Given the description of an element on the screen output the (x, y) to click on. 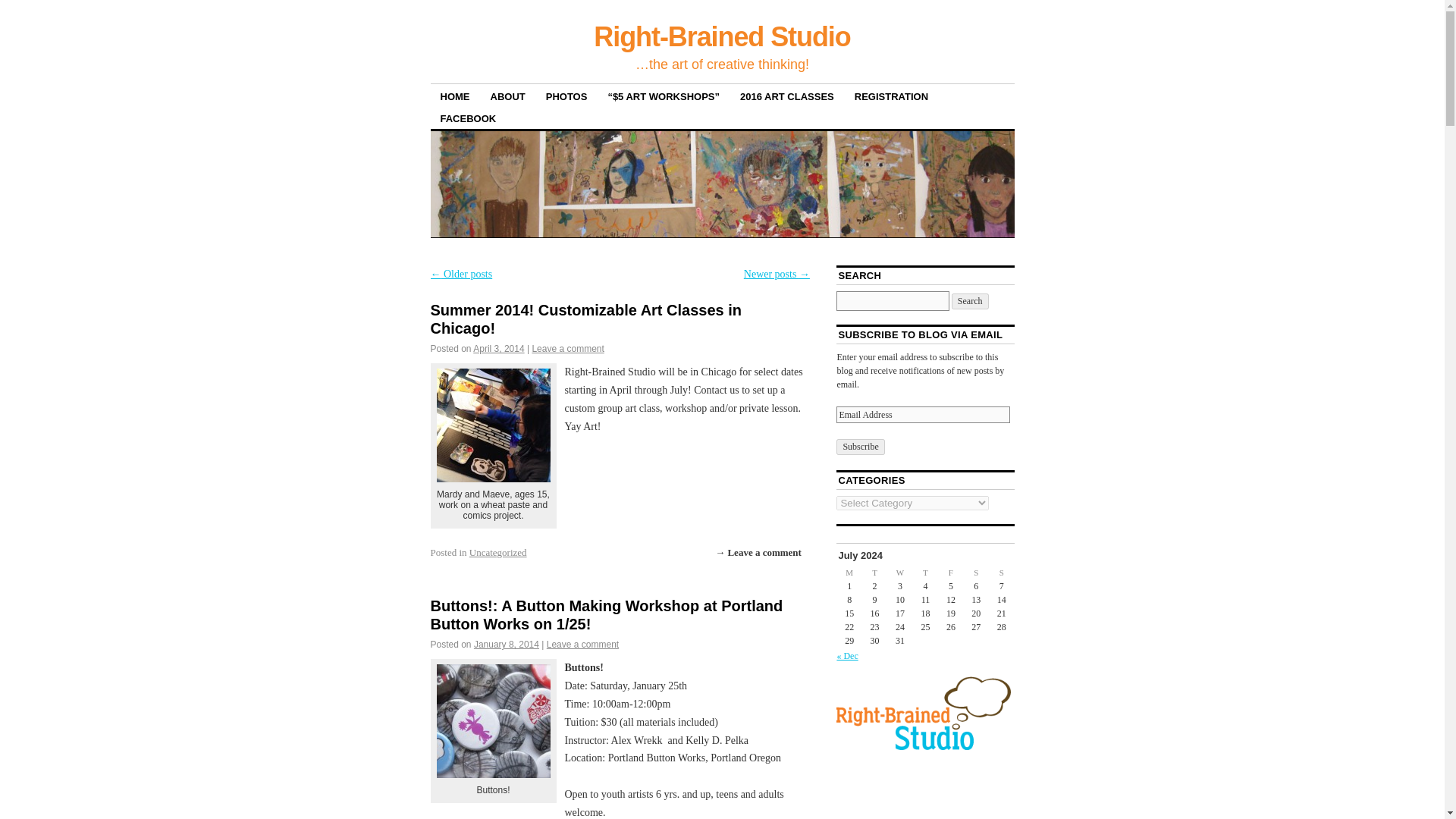
View all posts in Uncategorized (497, 552)
January 8, 2014 (506, 644)
PHOTOS (565, 96)
ABOUT (507, 96)
Email Address (922, 414)
Search (970, 301)
3:44 am (506, 644)
Leave a comment (567, 348)
Summer 2014! Customizable Art Classes in Chicago! (586, 319)
Home (455, 96)
Comment on Summer 2014! Customizable Art Classes in Chicago! (758, 552)
April 3, 2014 (498, 348)
Uncategorized (497, 552)
